Given the description of an element on the screen output the (x, y) to click on. 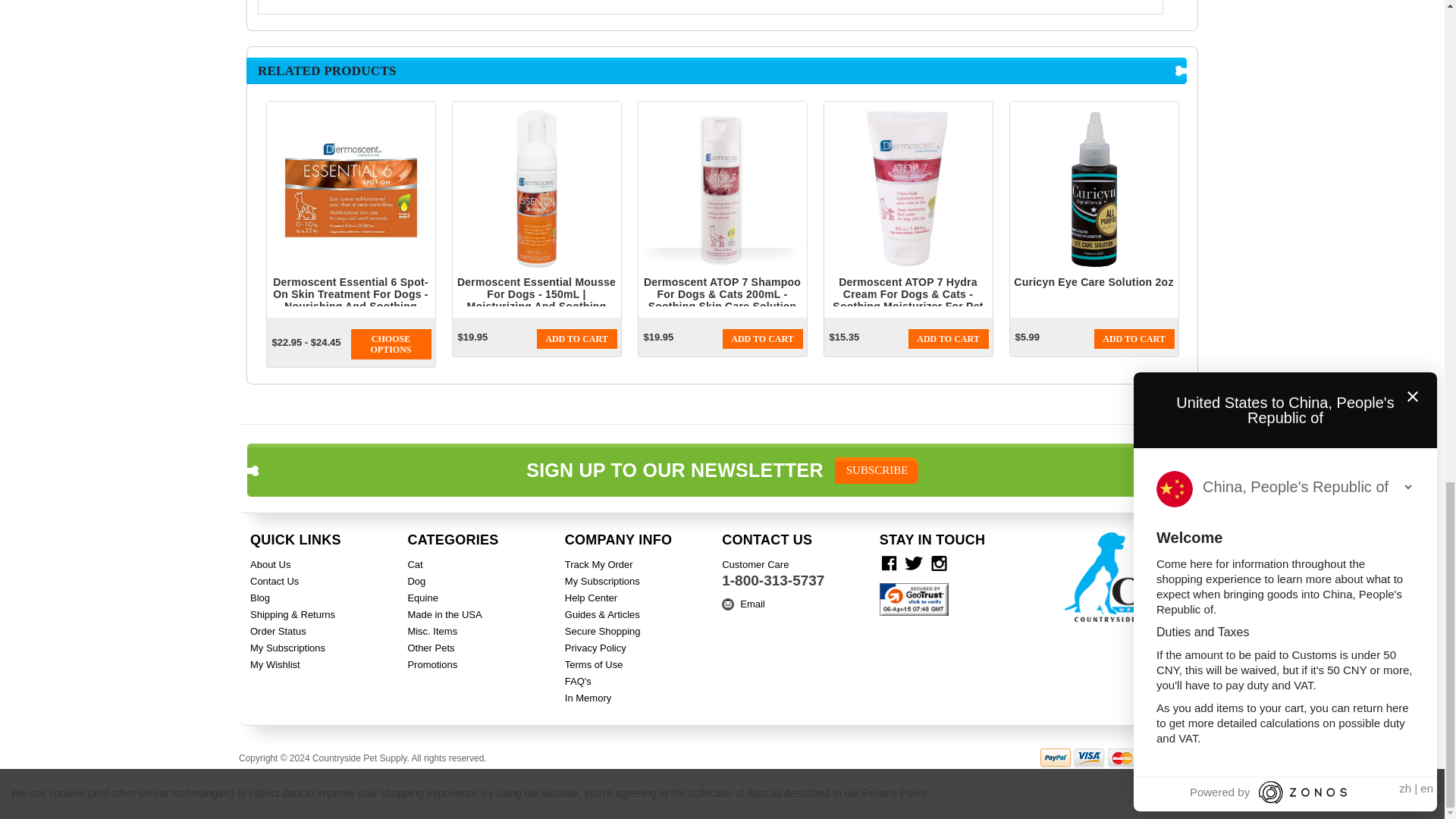
Countryside Pet Supply (1128, 576)
    Subscribe (876, 470)
Curicyn Eye Care Solution 2oz (1092, 188)
